Given the description of an element on the screen output the (x, y) to click on. 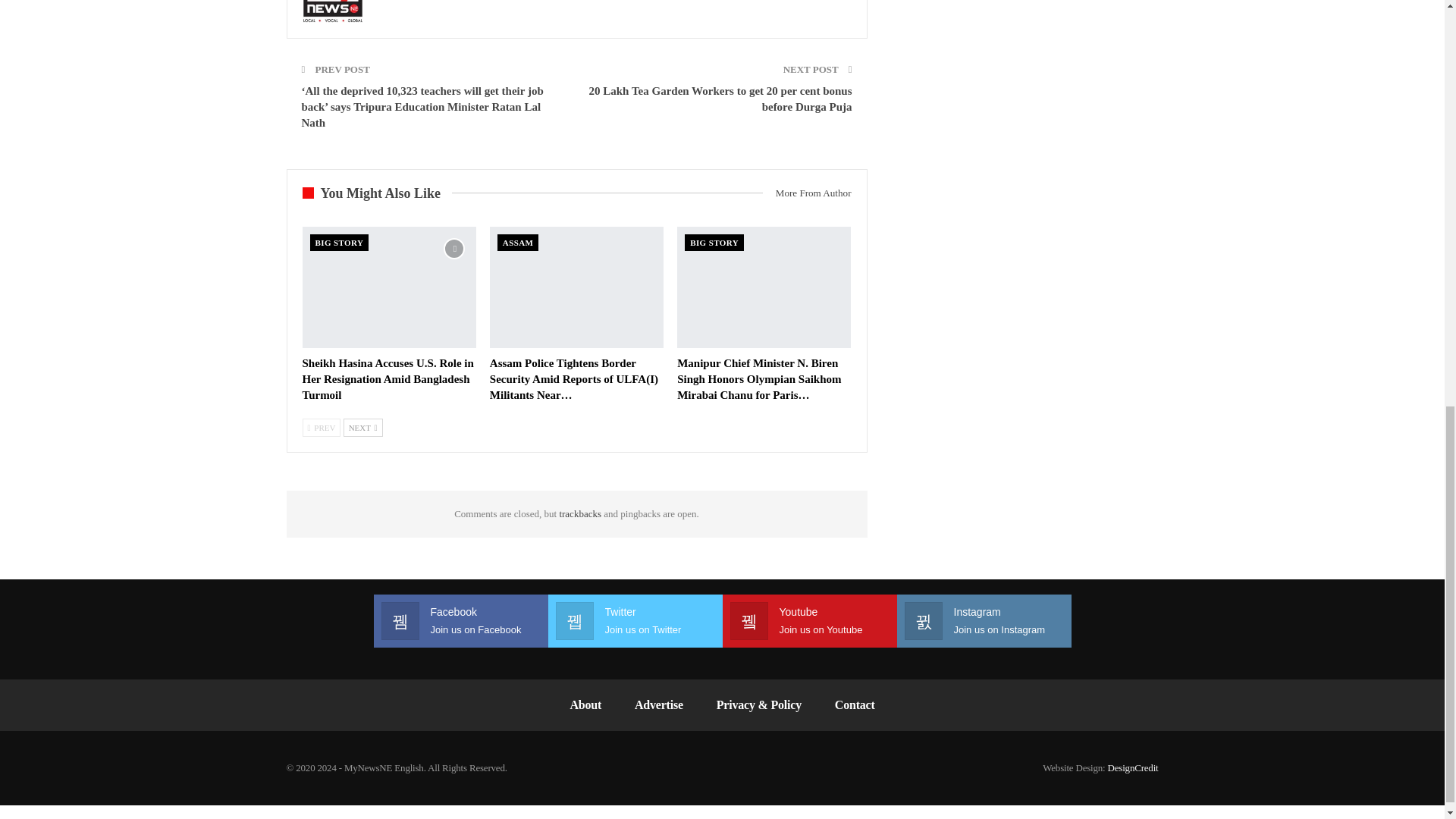
Previous (320, 427)
Next (362, 427)
